Given the description of an element on the screen output the (x, y) to click on. 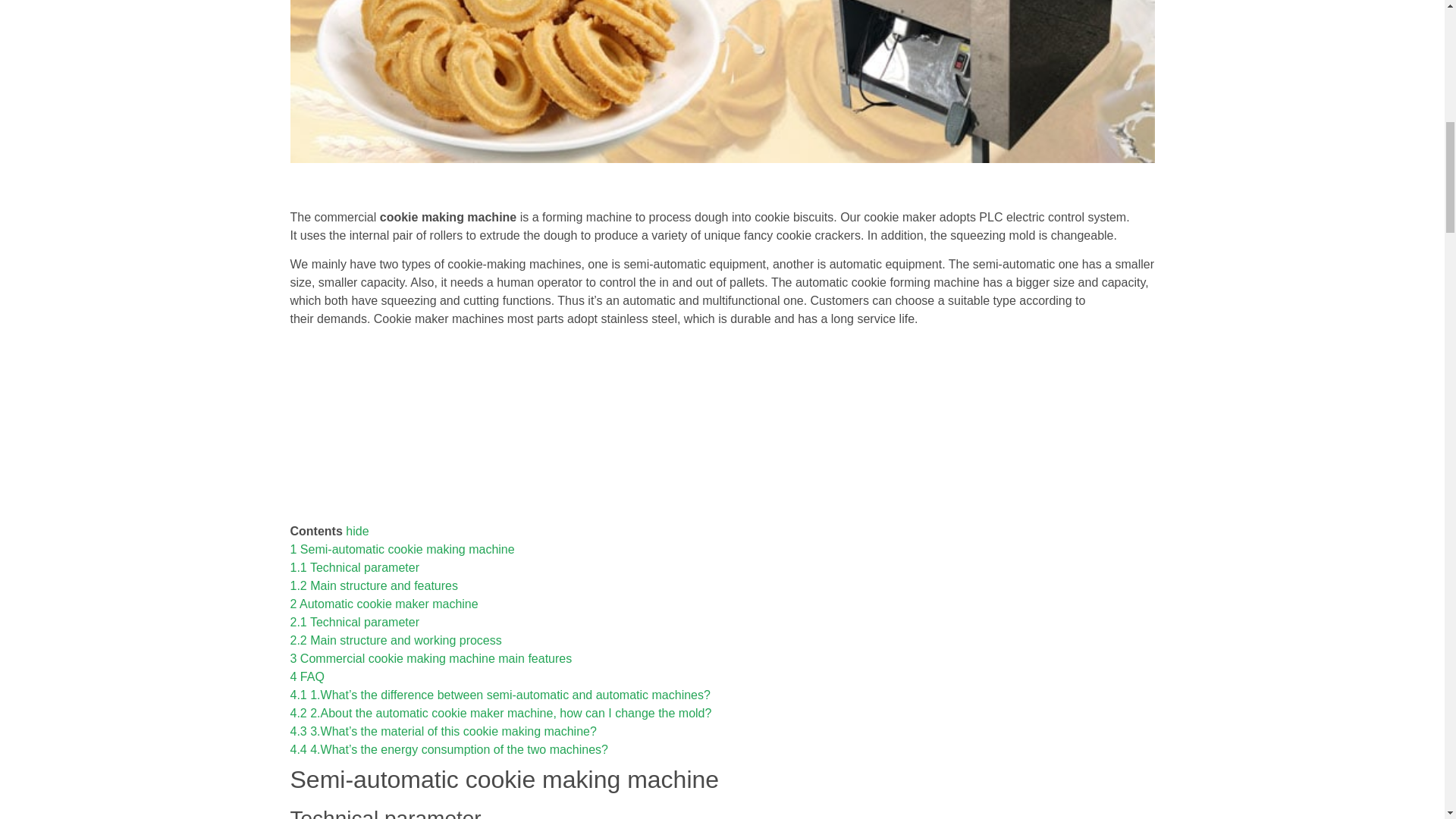
1.1 Technical parameter (354, 567)
1 Semi-automatic cookie making machine (401, 549)
hide (357, 530)
